Given the description of an element on the screen output the (x, y) to click on. 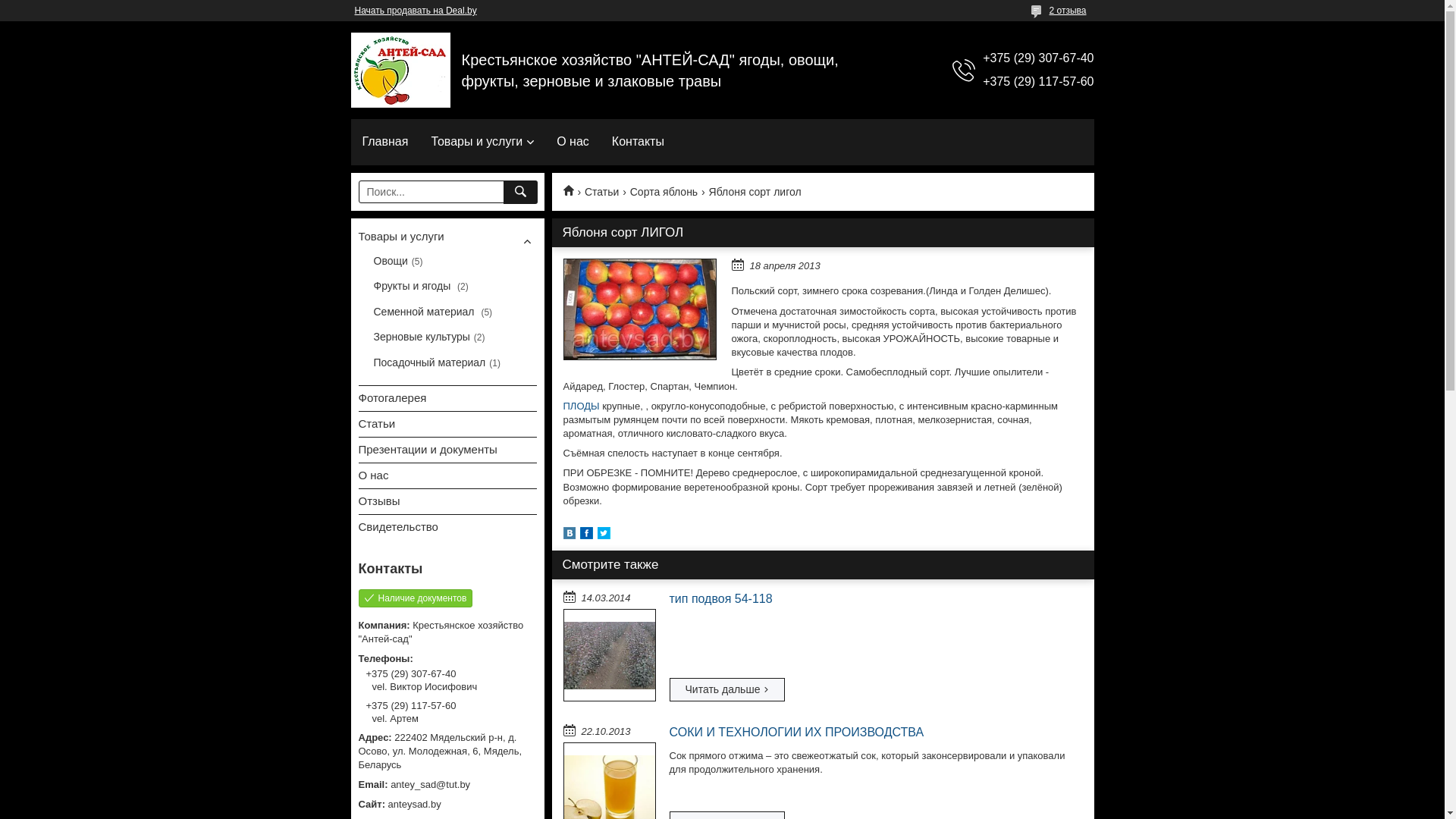
twitter Element type: hover (603, 535)
facebook Element type: hover (585, 535)
anteysad.by Element type: text (446, 804)
antey_sad@tut.by Element type: text (446, 784)
